Given the description of an element on the screen output the (x, y) to click on. 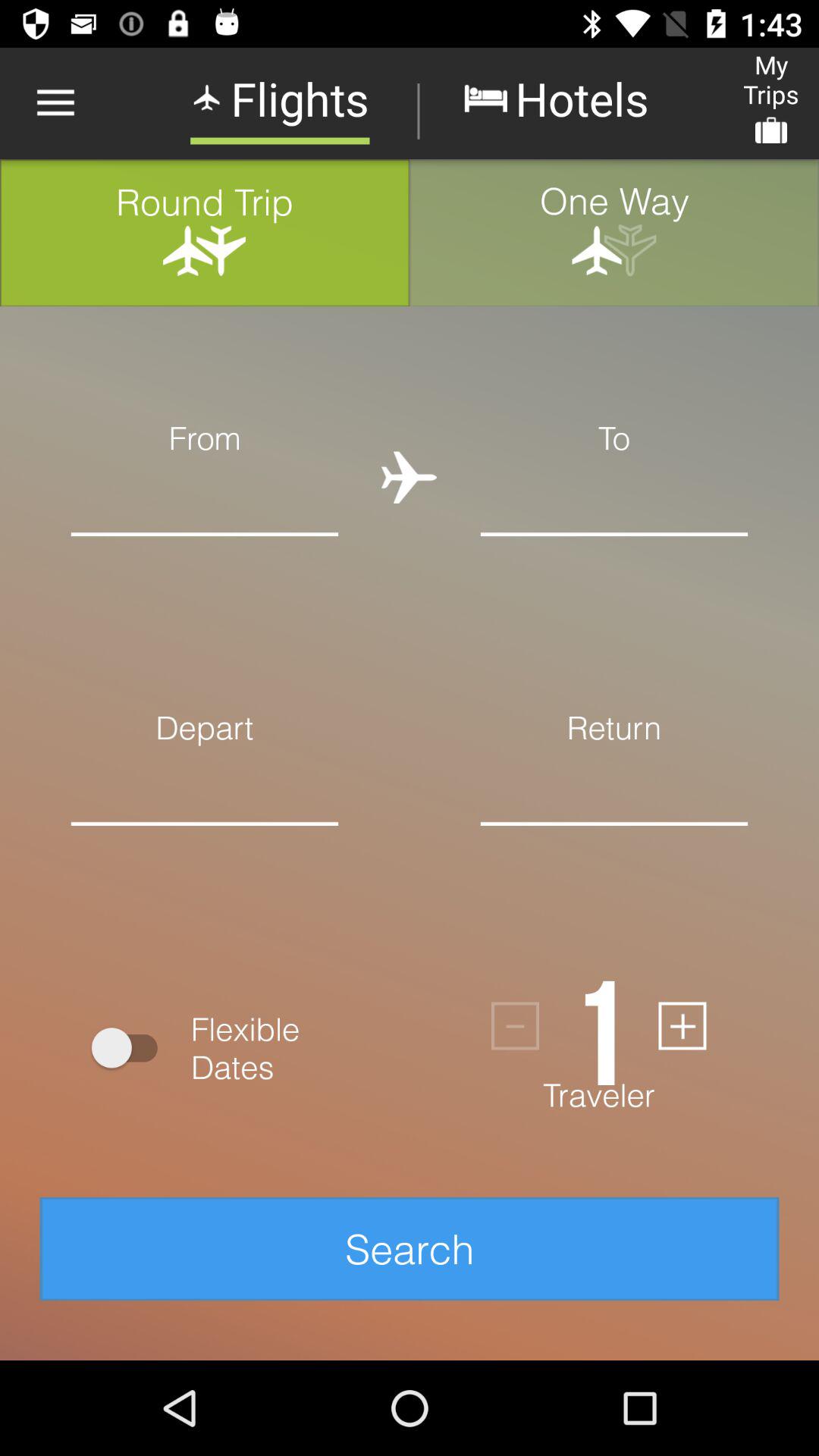
reduce quantity (515, 1025)
